Given the description of an element on the screen output the (x, y) to click on. 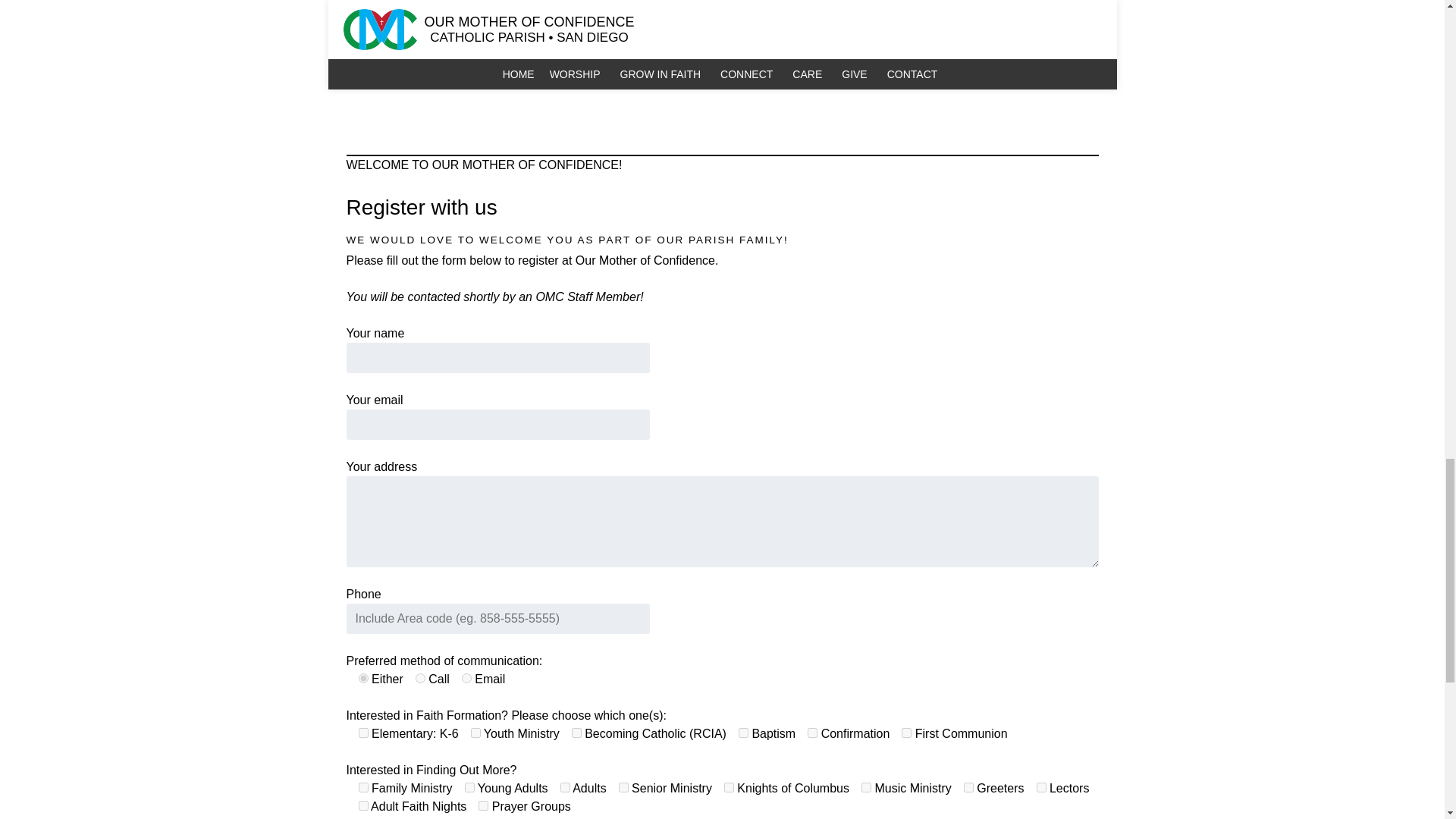
Email (466, 678)
Either (363, 678)
Knights of Columbus (728, 787)
Elementary: K-6 (363, 732)
Music Ministry (865, 787)
Baptism (743, 732)
Lectors (1040, 787)
Adults (565, 787)
Youth Ministry (475, 732)
Confirmation (812, 732)
Greeters (968, 787)
Family Ministry (363, 787)
Senior Ministry (623, 787)
Young Adults (469, 787)
First Communion (906, 732)
